Given the description of an element on the screen output the (x, y) to click on. 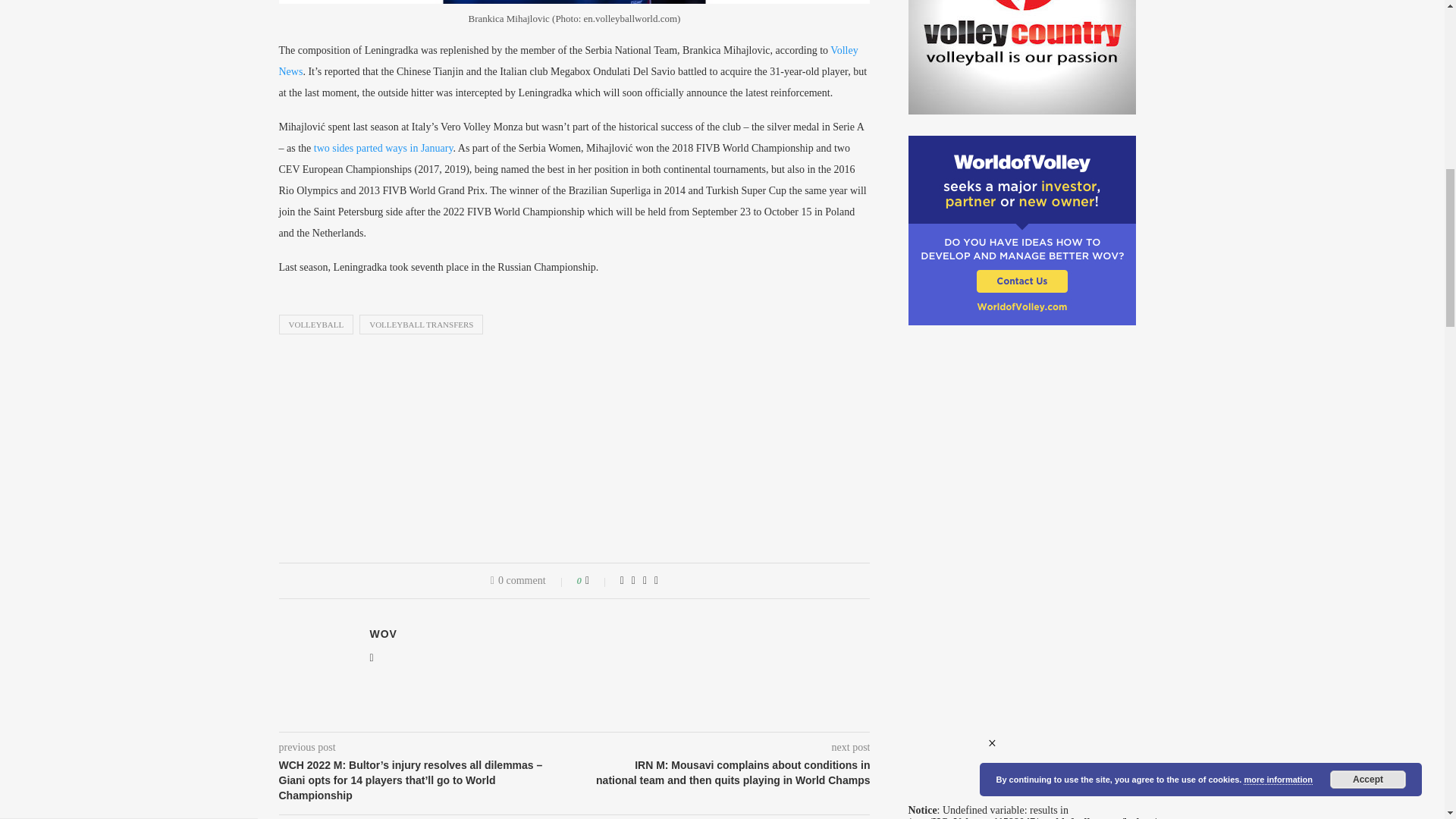
Like (597, 580)
Posts by WoV (383, 633)
